Given the description of an element on the screen output the (x, y) to click on. 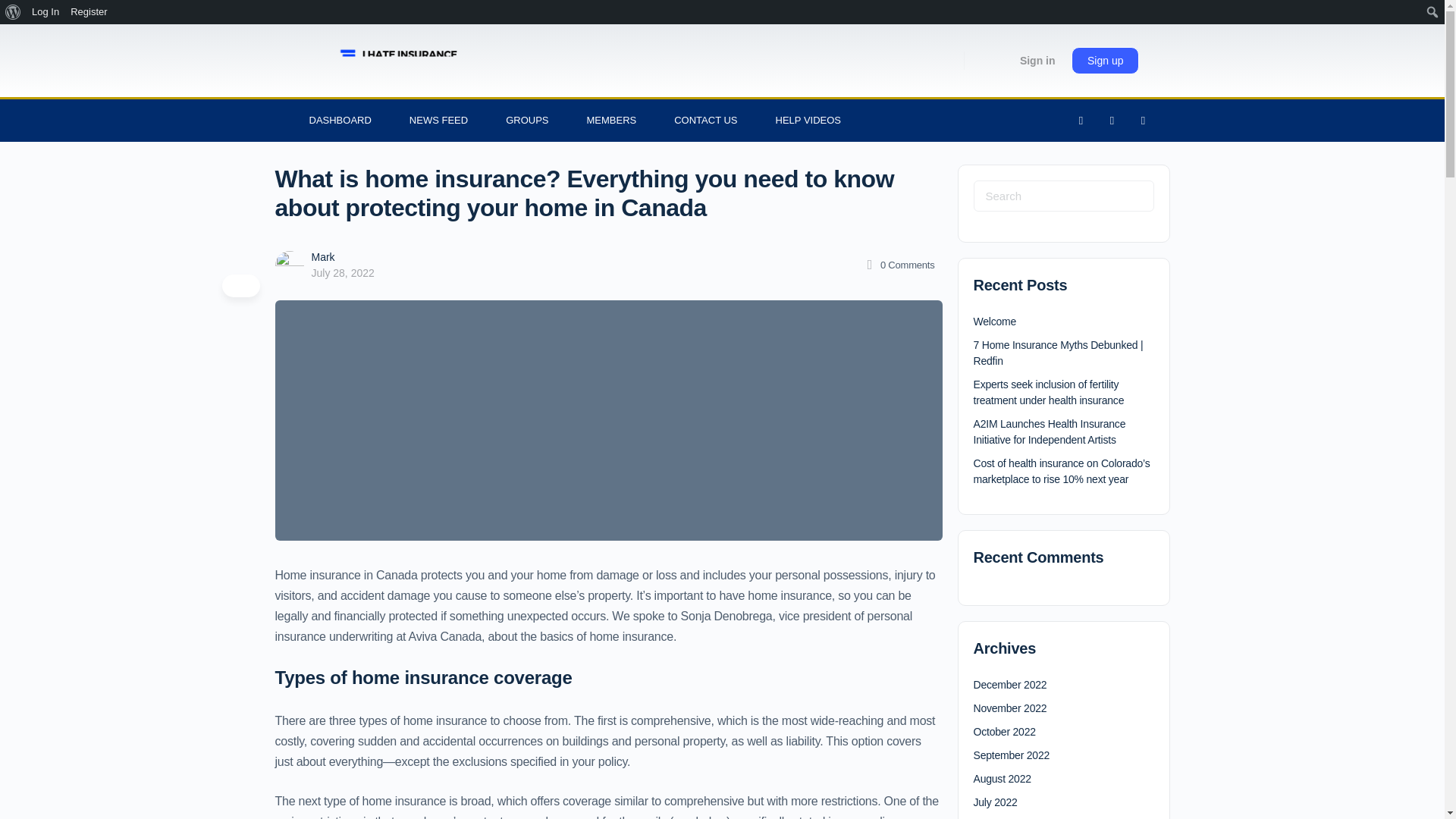
GROUPS (526, 120)
Sign up (1104, 60)
Sign in (1037, 60)
Search (16, 12)
DASHBOARD (339, 120)
CONTACT US (705, 120)
HELP VIDEOS (808, 120)
NEWS FEED (438, 120)
Log In (45, 12)
MEMBERS (611, 120)
Register (89, 12)
